Given the description of an element on the screen output the (x, y) to click on. 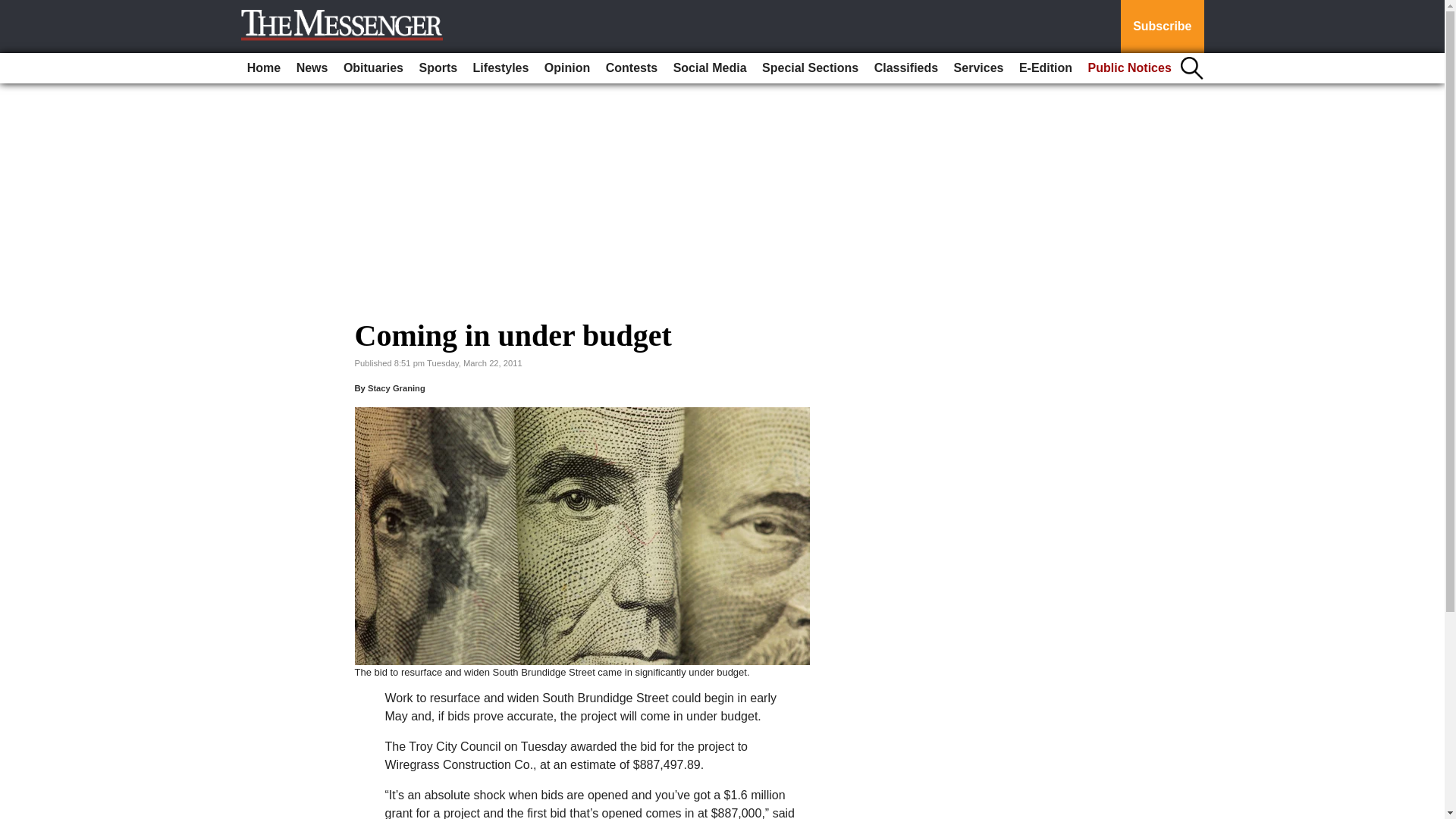
Contests (631, 68)
Subscribe (1162, 26)
Classifieds (905, 68)
News (311, 68)
Services (978, 68)
Lifestyles (501, 68)
Obituaries (373, 68)
Public Notices (1129, 68)
Sports (437, 68)
Opinion (566, 68)
Home (263, 68)
Special Sections (809, 68)
Social Media (709, 68)
E-Edition (1045, 68)
money (582, 536)
